Given the description of an element on the screen output the (x, y) to click on. 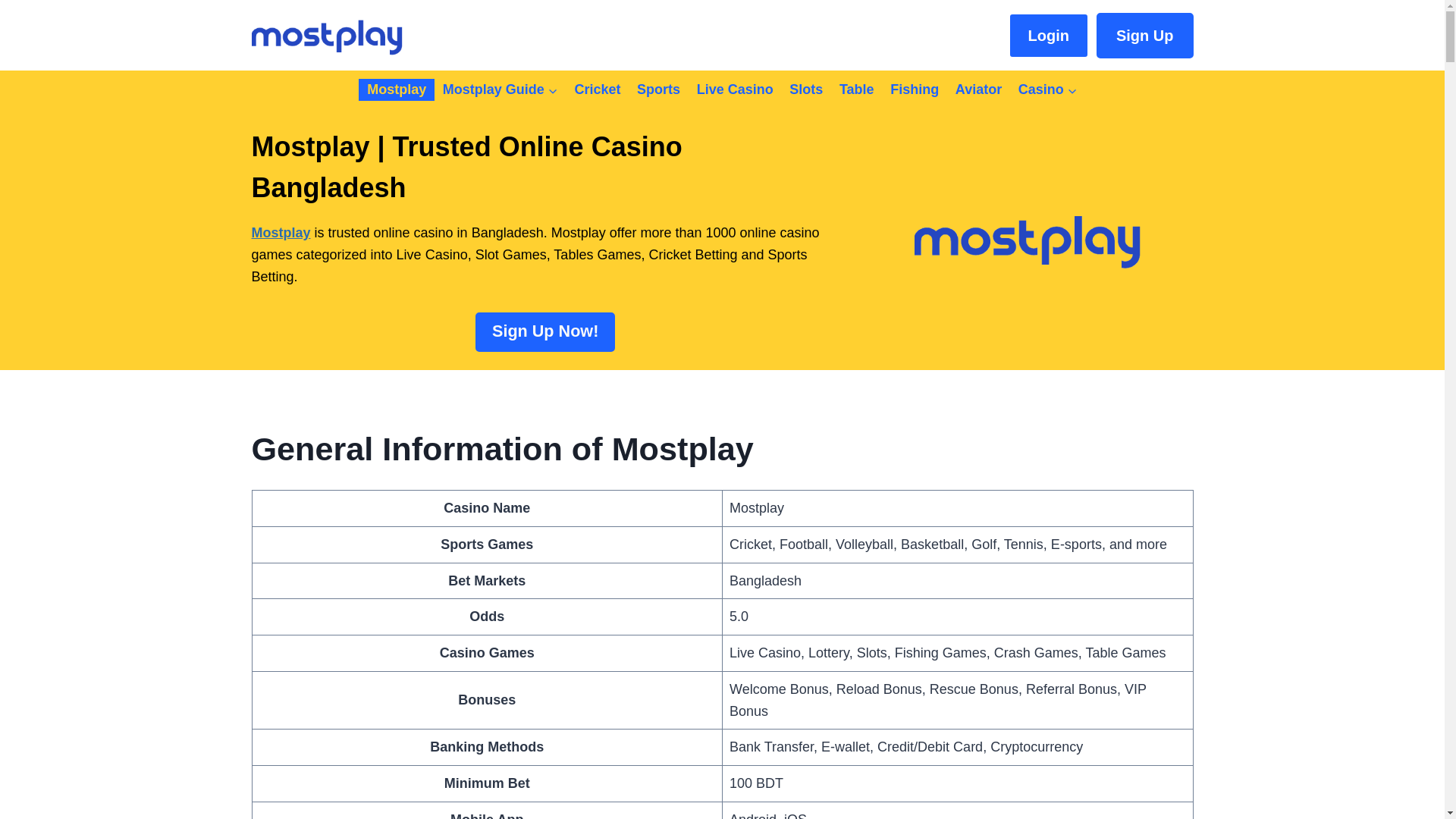
Sports (658, 89)
Mostplay (281, 232)
Login (1049, 35)
Fishing (914, 89)
Slots (806, 89)
Sign Up (1144, 35)
Cricket (597, 89)
Mostplay (395, 89)
Table (856, 89)
Casino (1048, 89)
